Given the description of an element on the screen output the (x, y) to click on. 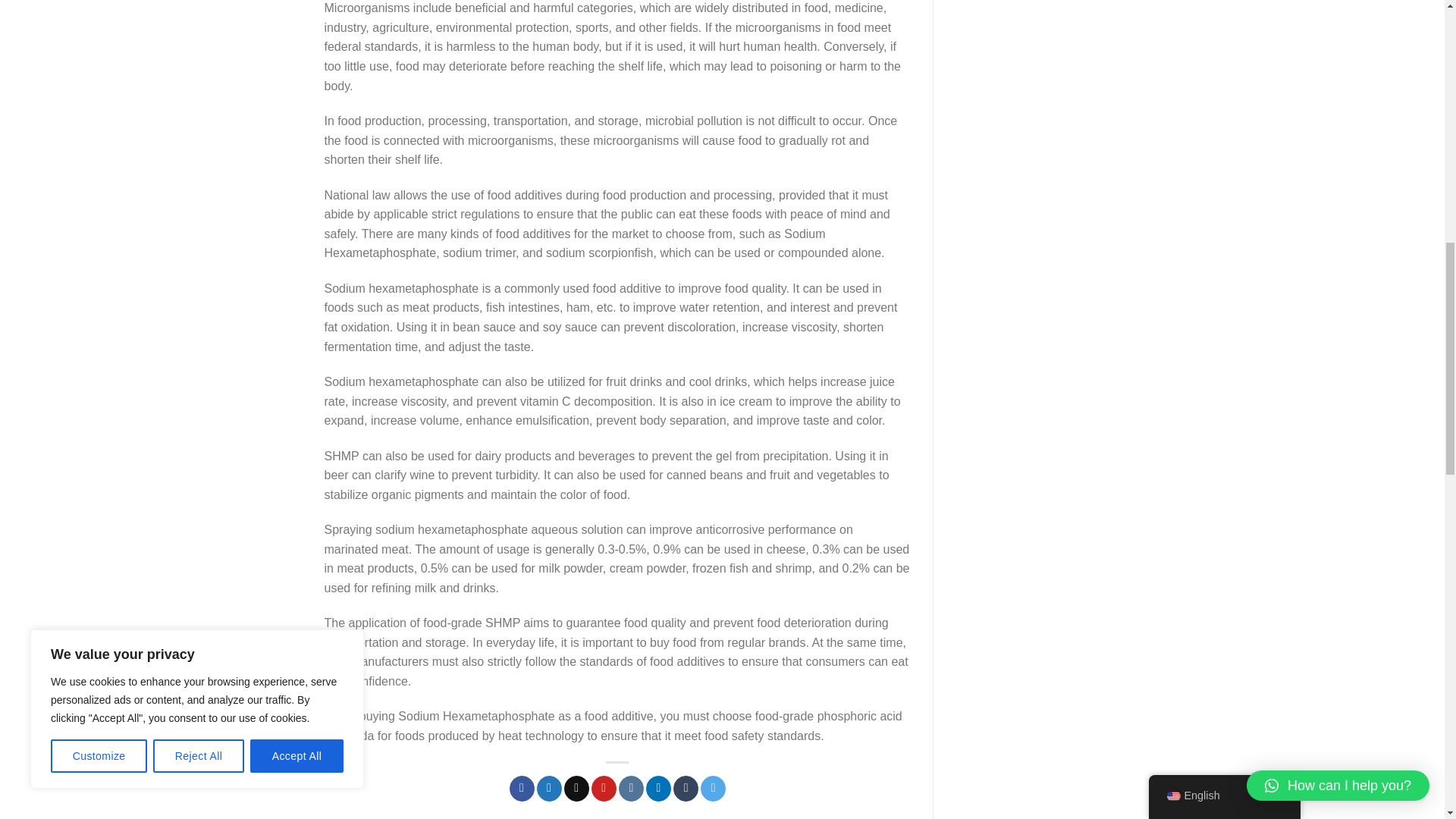
Share on Facebook (521, 788)
Pin on Pinterest (603, 788)
Share on Twitter (549, 788)
Email to a Friend (576, 788)
